Given the description of an element on the screen output the (x, y) to click on. 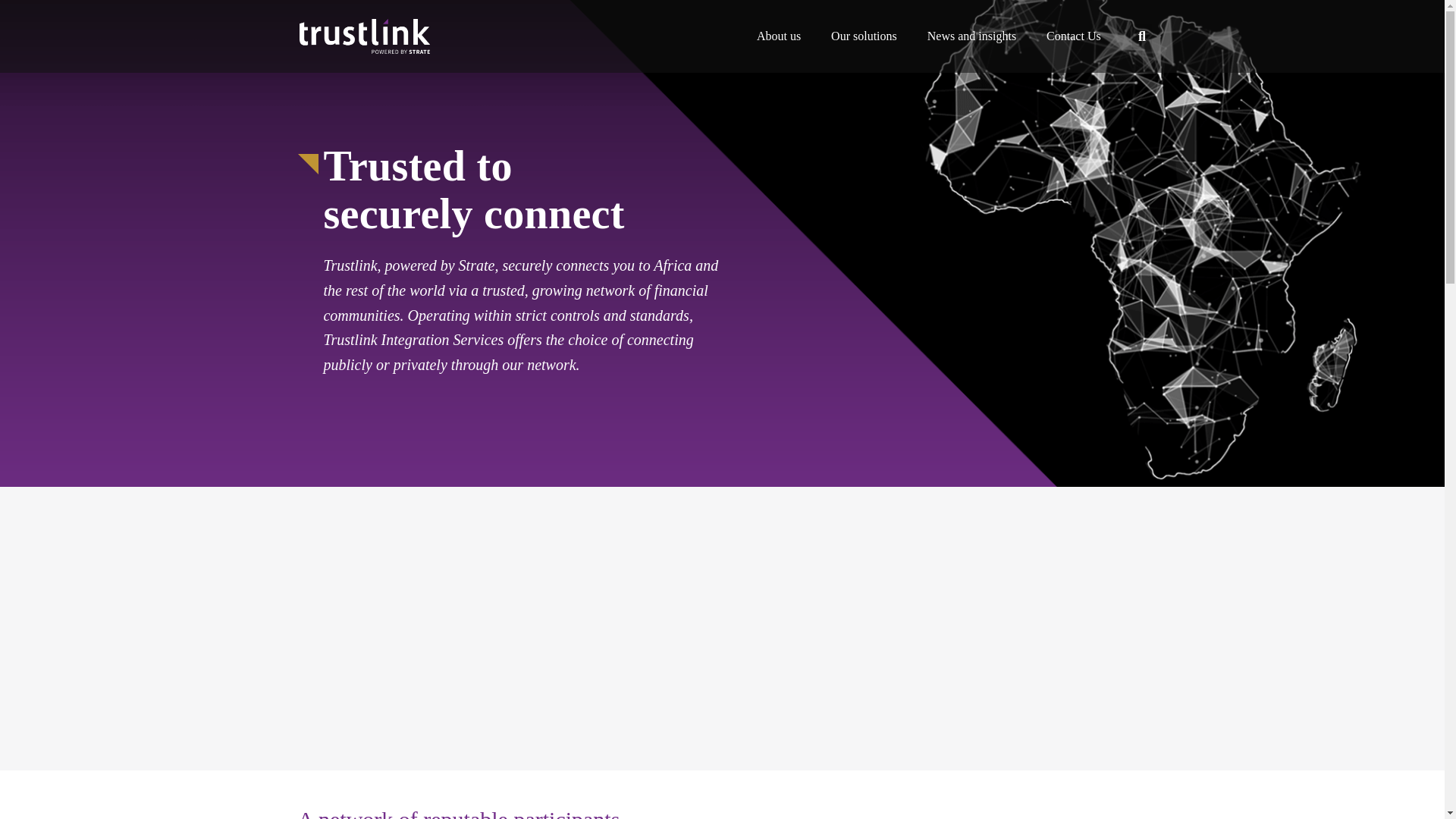
News and insights (971, 36)
Contact Us (1073, 36)
Our solutions (863, 36)
About us (778, 36)
